Given the description of an element on the screen output the (x, y) to click on. 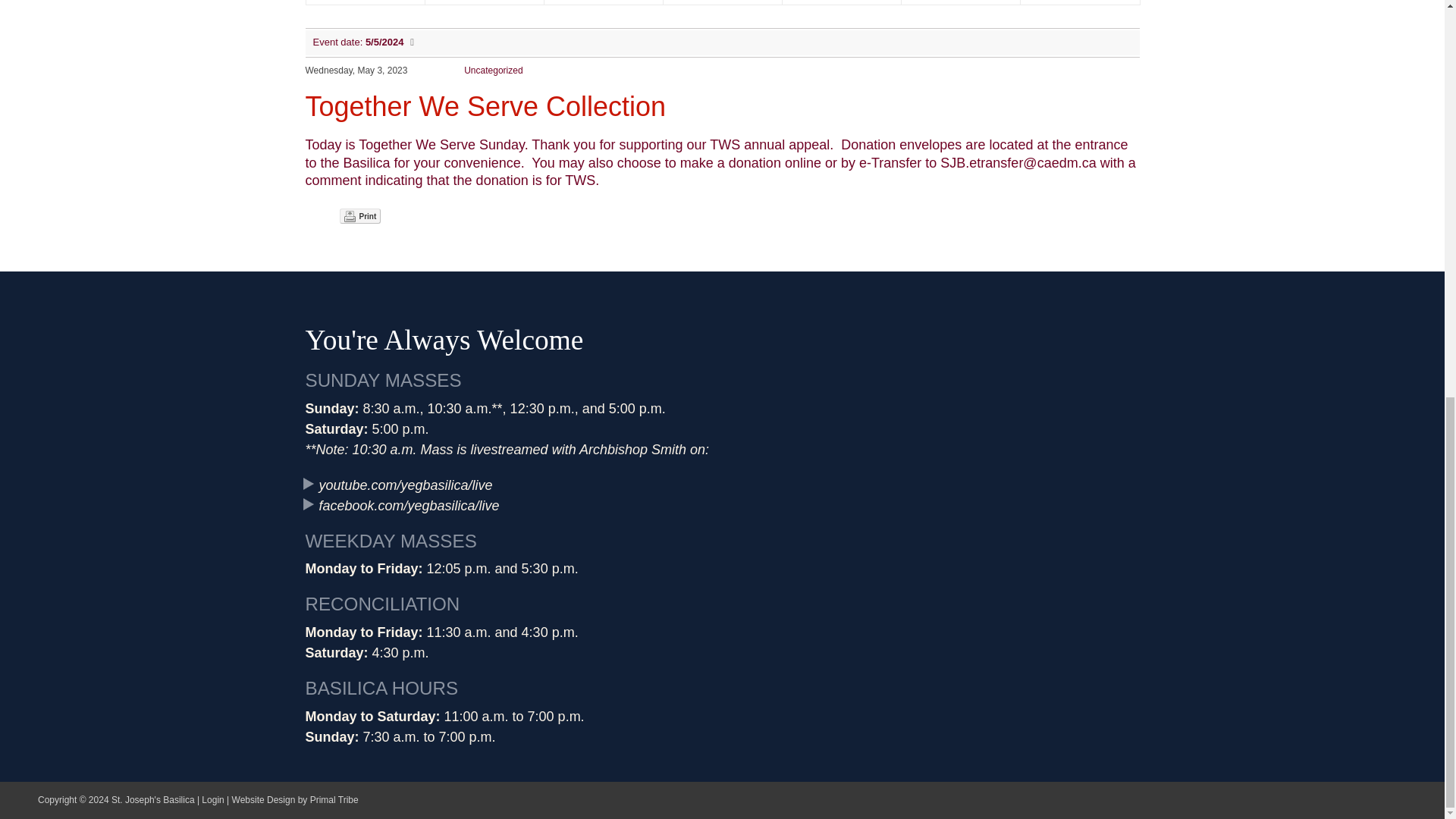
Login (213, 799)
